Given the description of an element on the screen output the (x, y) to click on. 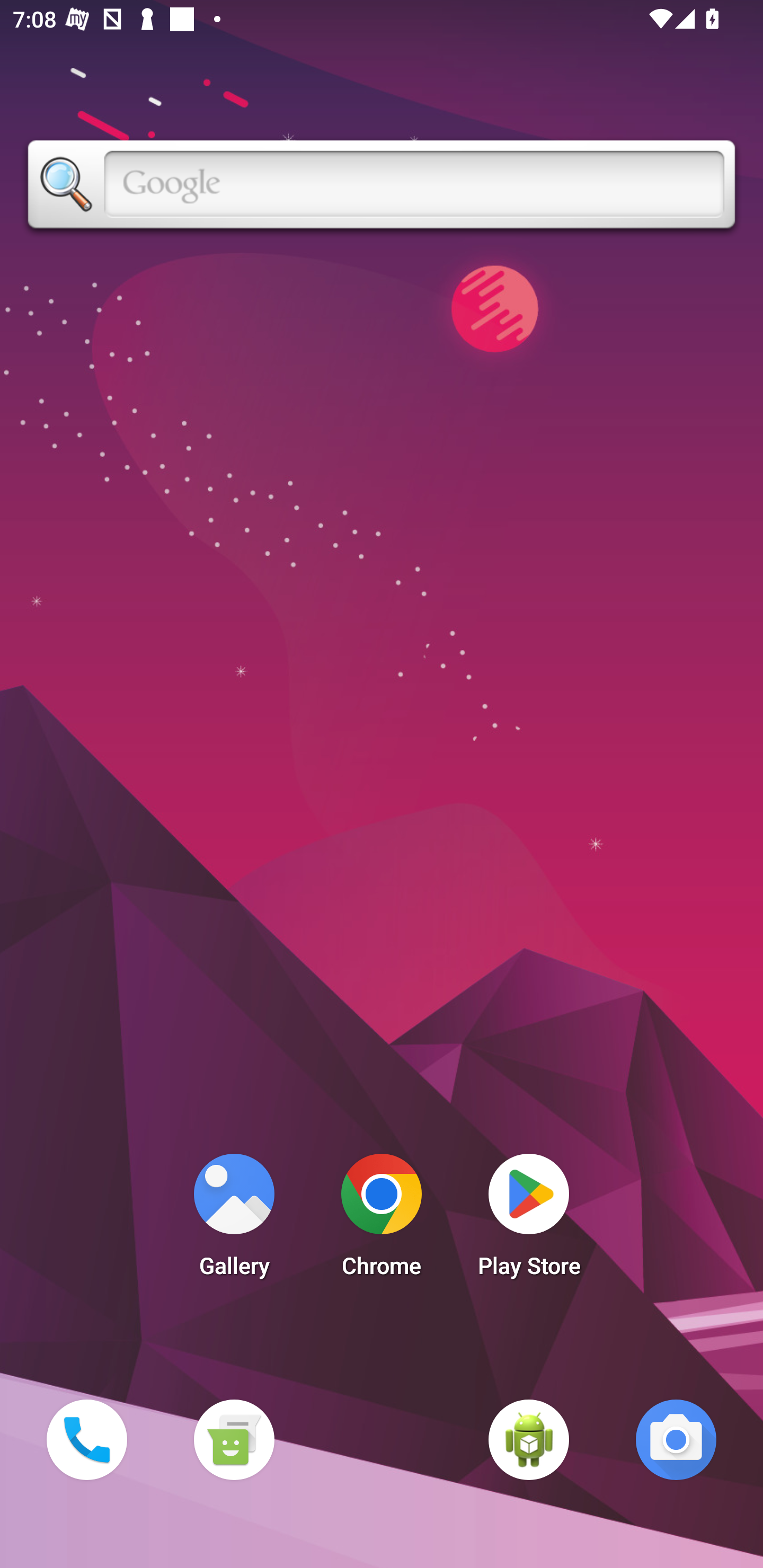
Gallery (233, 1220)
Chrome (381, 1220)
Play Store (528, 1220)
Phone (86, 1439)
Messaging (233, 1439)
WebView Browser Tester (528, 1439)
Camera (676, 1439)
